Given the description of an element on the screen output the (x, y) to click on. 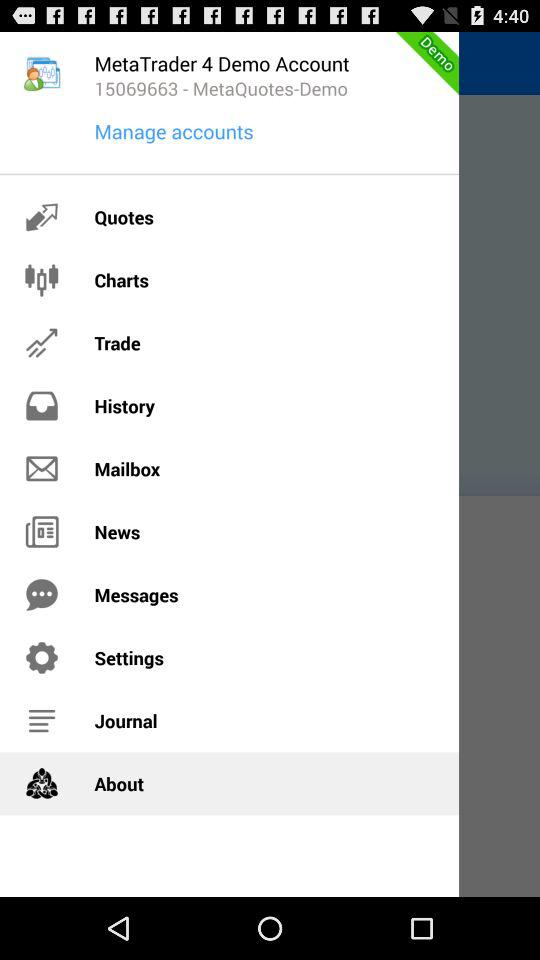
click on the icon next to about (42, 784)
click on icon on the left side of mailbox (42, 468)
